Given the description of an element on the screen output the (x, y) to click on. 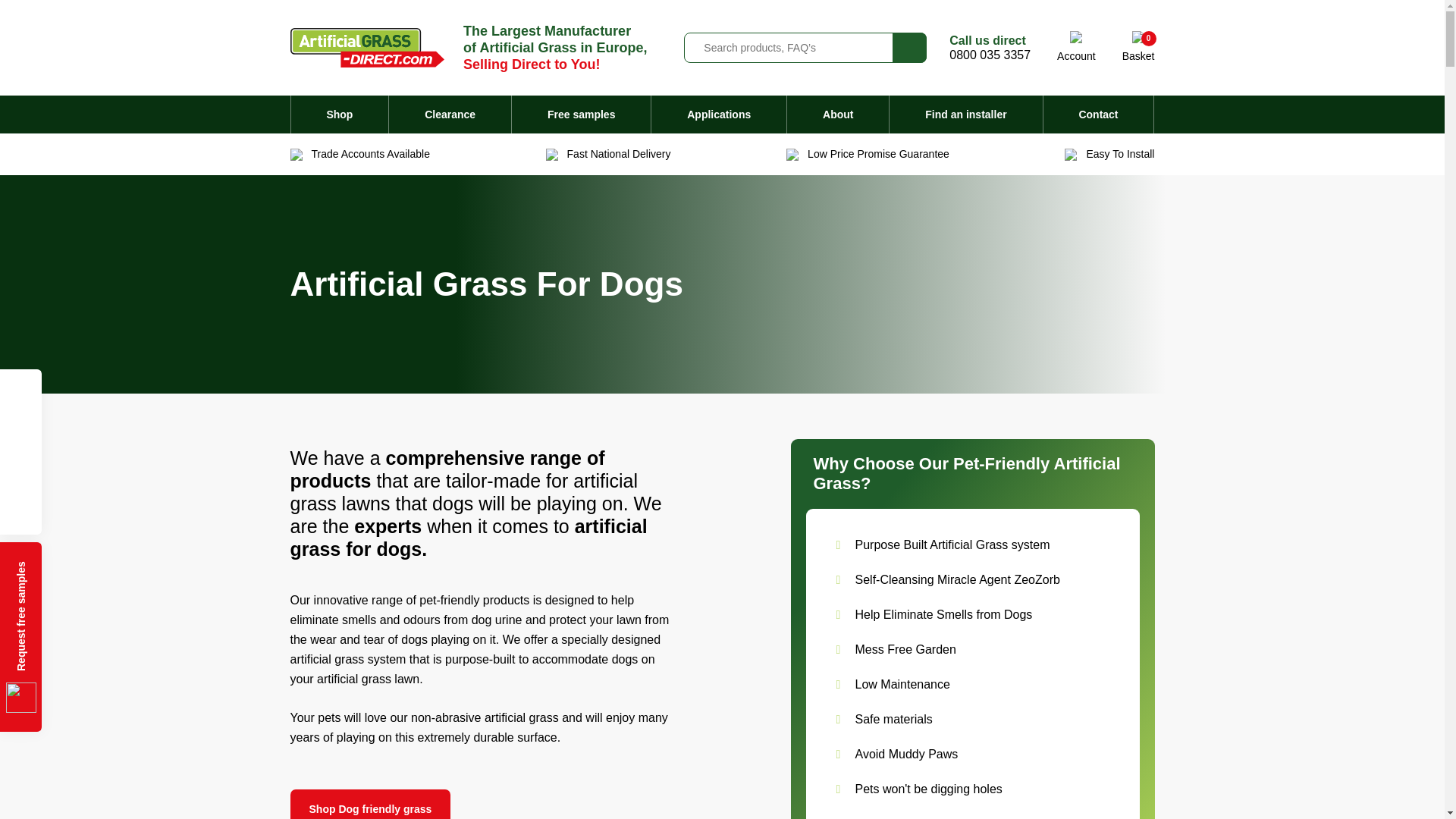
Find an installer (965, 114)
About (837, 114)
Request free samples (1138, 47)
Account (94, 562)
Clearance (1076, 47)
Free samples (449, 114)
Contact (581, 114)
Shop (1098, 114)
Applications (339, 114)
0800 035 3357 (718, 114)
Shop Dog friendly grass (989, 54)
